Given the description of an element on the screen output the (x, y) to click on. 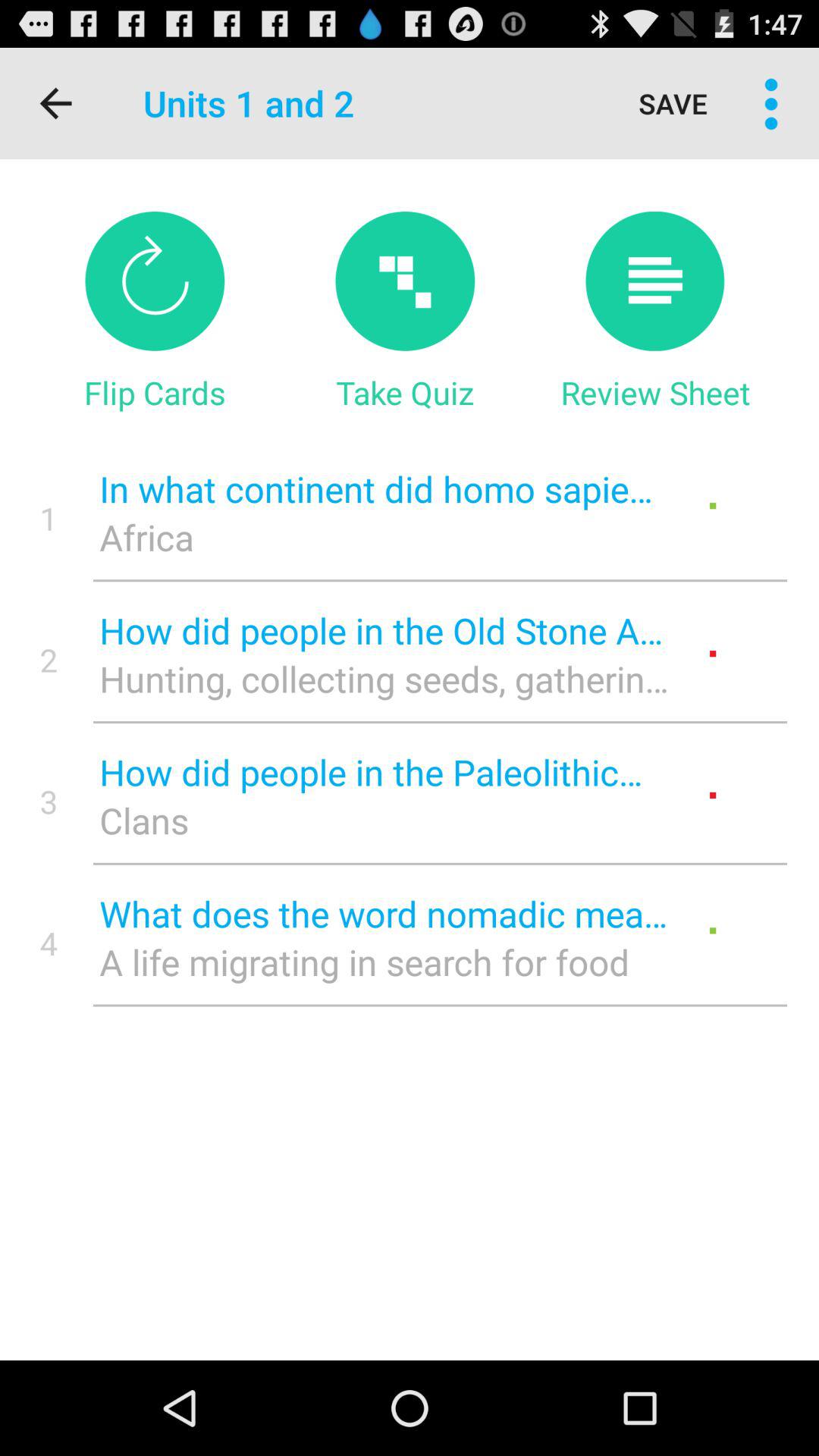
select 4 item (48, 942)
